Given the description of an element on the screen output the (x, y) to click on. 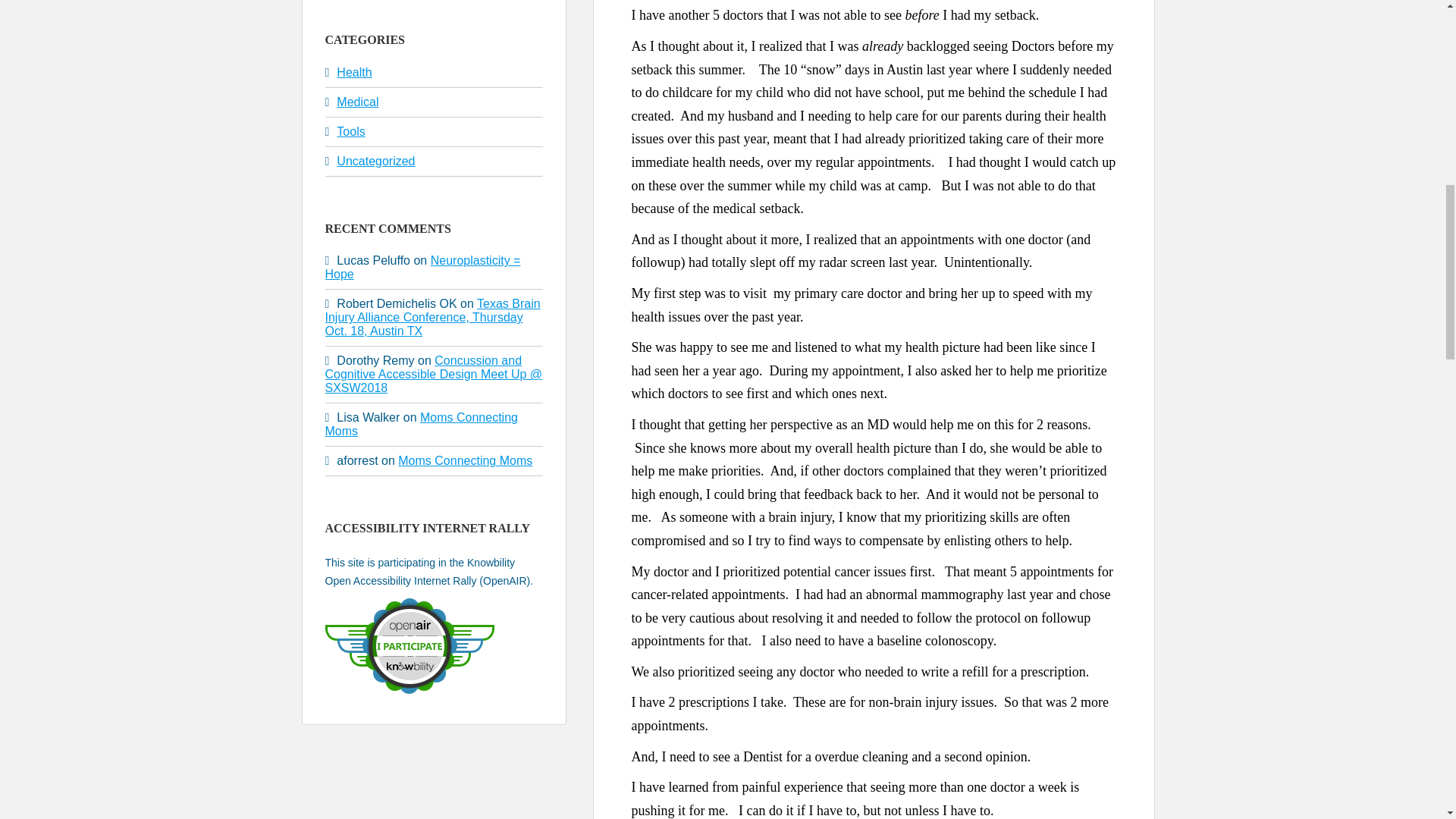
Health (353, 72)
Tools (350, 131)
Uncategorized (375, 160)
Medical (357, 101)
Moms Connecting Moms (464, 460)
Moms Connecting Moms (420, 424)
